Given the description of an element on the screen output the (x, y) to click on. 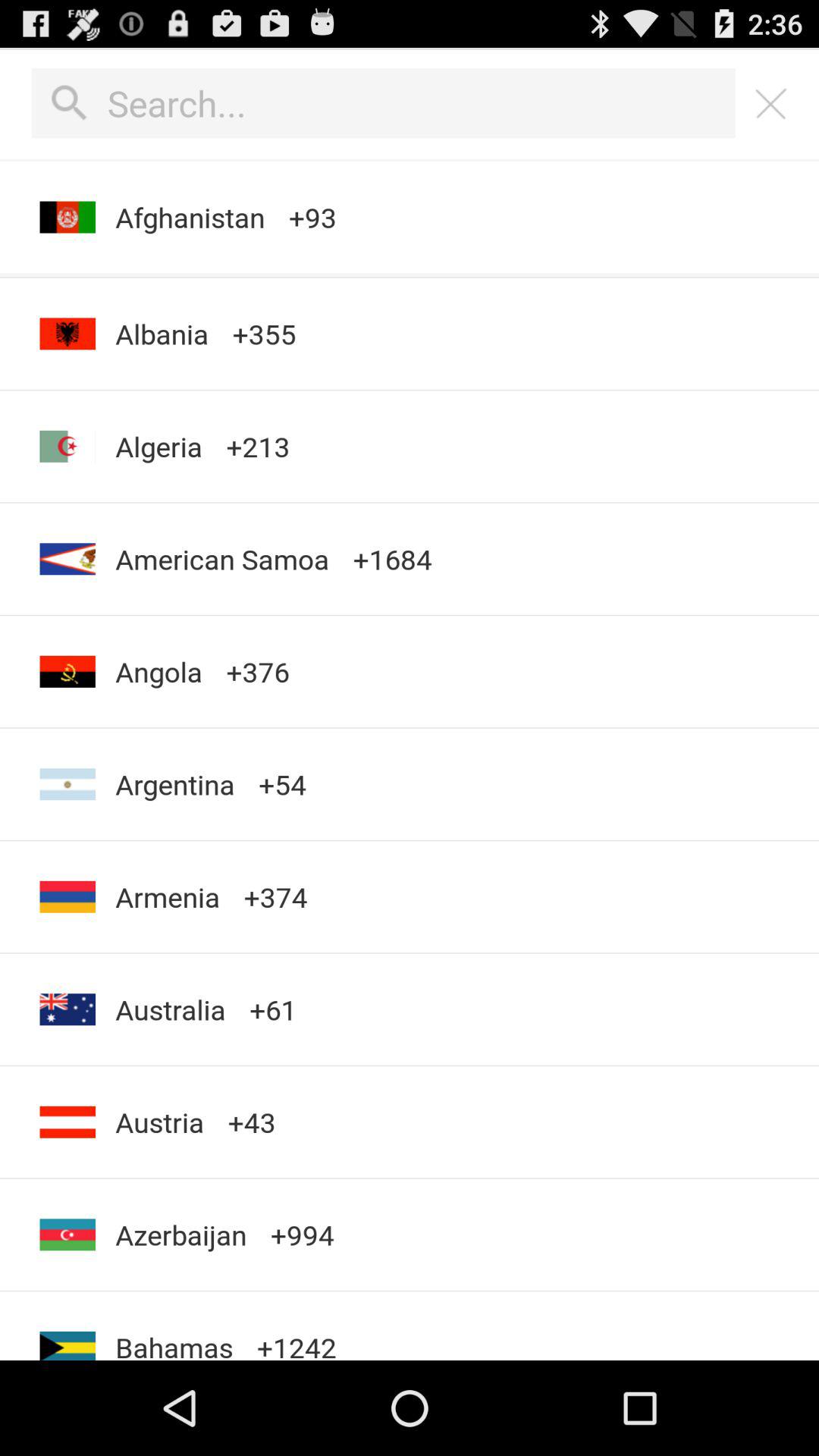
tap the app to the right of the azerbaijan icon (296, 1325)
